Given the description of an element on the screen output the (x, y) to click on. 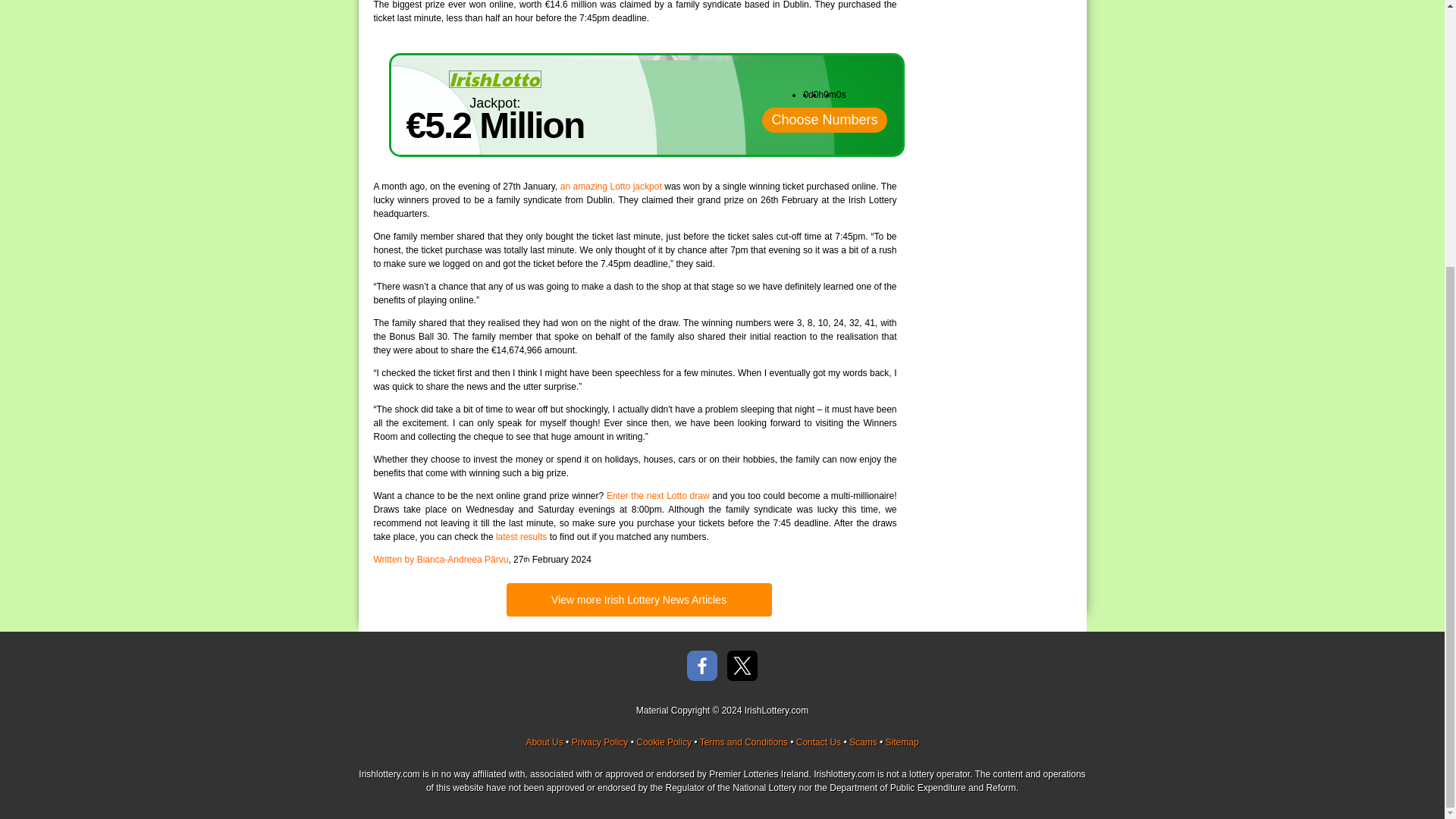
Choose Numbers (823, 119)
Enter the next Lotto draw (658, 495)
an amazing Lotto jackpot (611, 185)
latest results (521, 536)
View more Irish Lottery News Articles (638, 599)
